Given the description of an element on the screen output the (x, y) to click on. 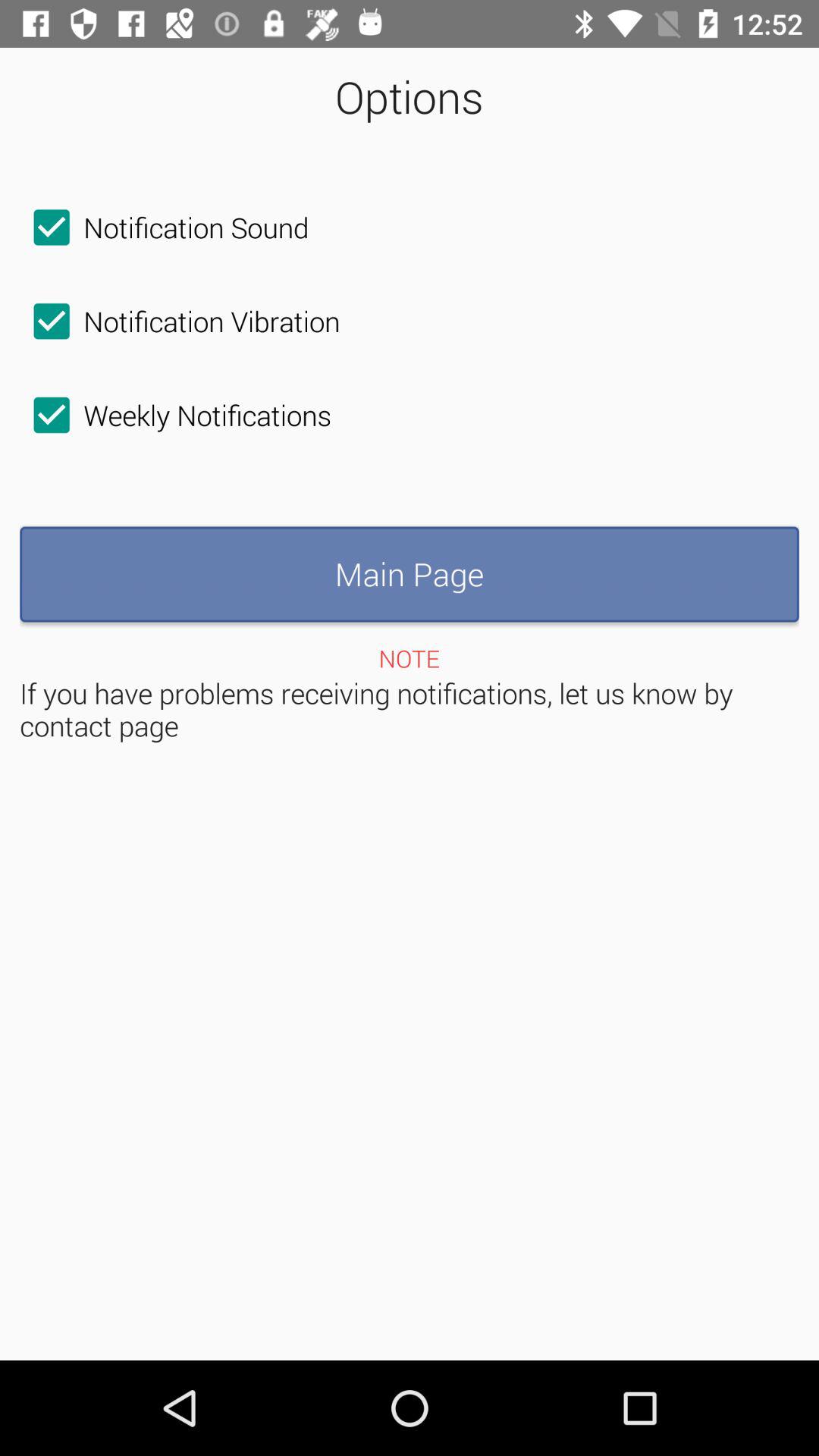
turn off icon above note (409, 574)
